Given the description of an element on the screen output the (x, y) to click on. 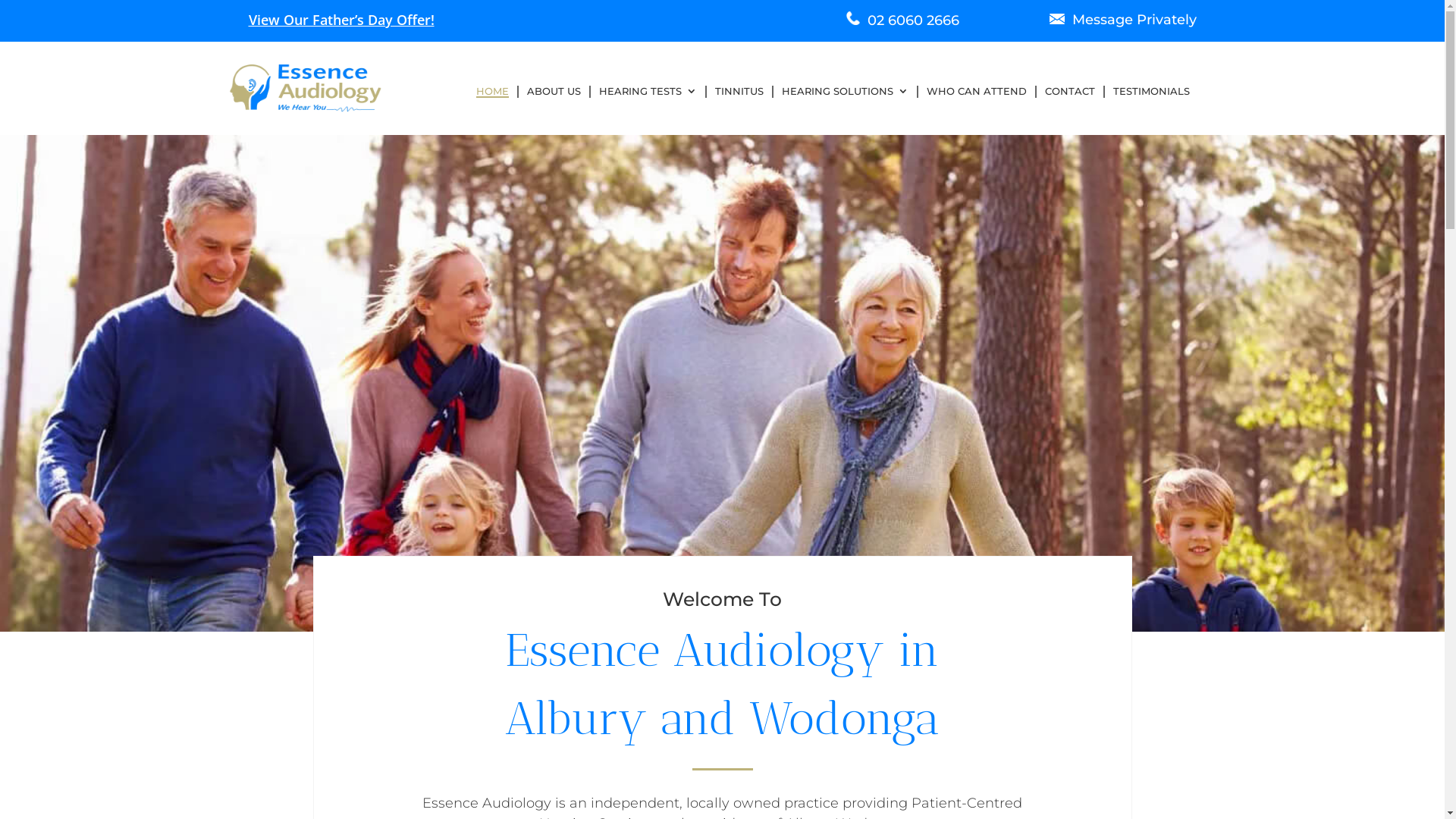
WHO CAN ATTEND Element type: text (976, 91)
HOME Element type: text (492, 91)
ABOUT US Element type: text (553, 91)
HEARING SOLUTIONS Element type: text (844, 91)
CONTACT Element type: text (1069, 91)
HEARING TESTS Element type: text (647, 91)
TINNITUS Element type: text (738, 91)
TESTIMONIALS Element type: text (1151, 91)
